Given the description of an element on the screen output the (x, y) to click on. 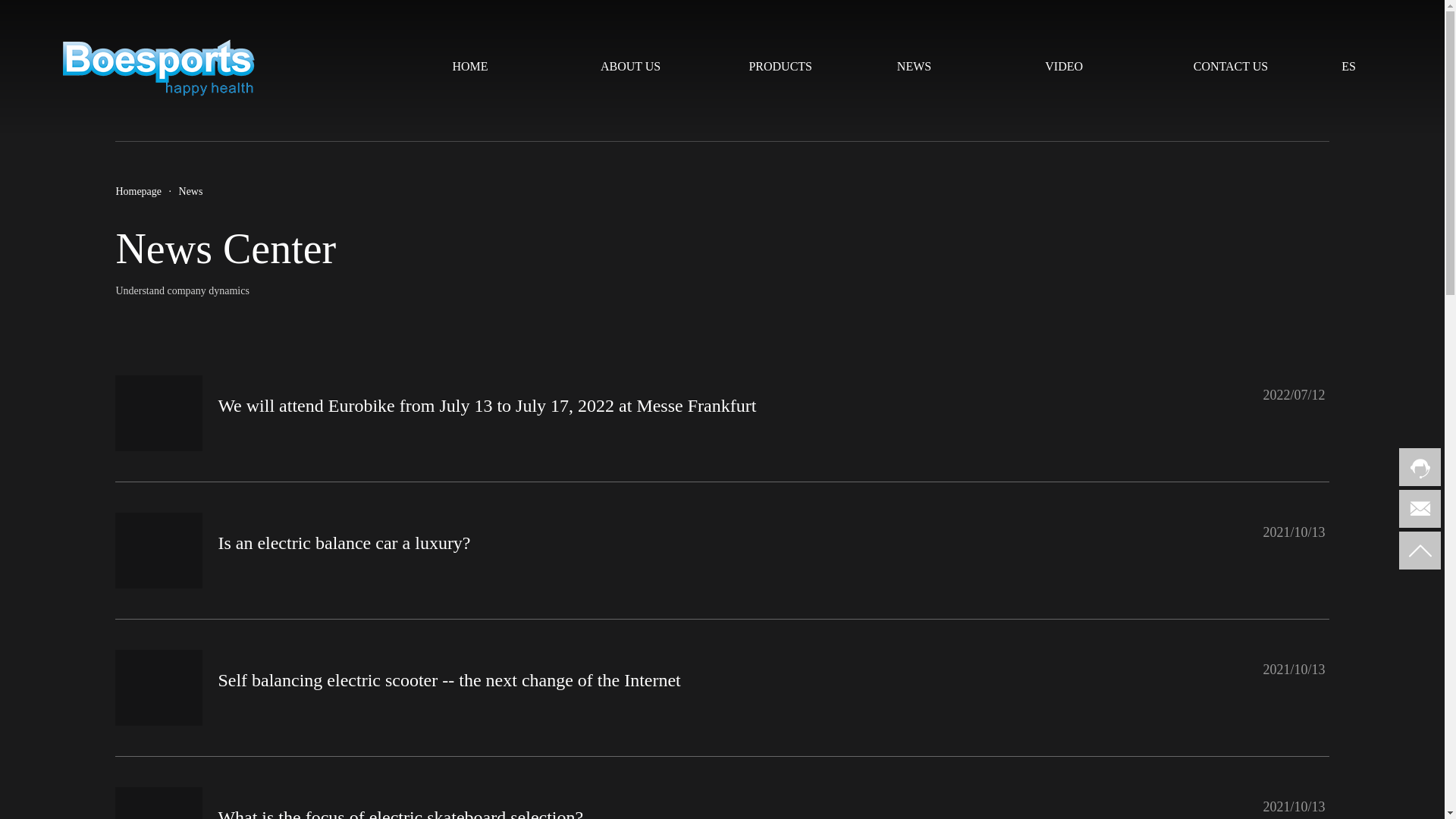
What (158, 803)
We (158, 413)
Boe Sports (158, 66)
VIDEO (1099, 66)
CONTACT US (1248, 66)
Is (158, 550)
Self (158, 687)
NEWS (951, 66)
